Given the description of an element on the screen output the (x, y) to click on. 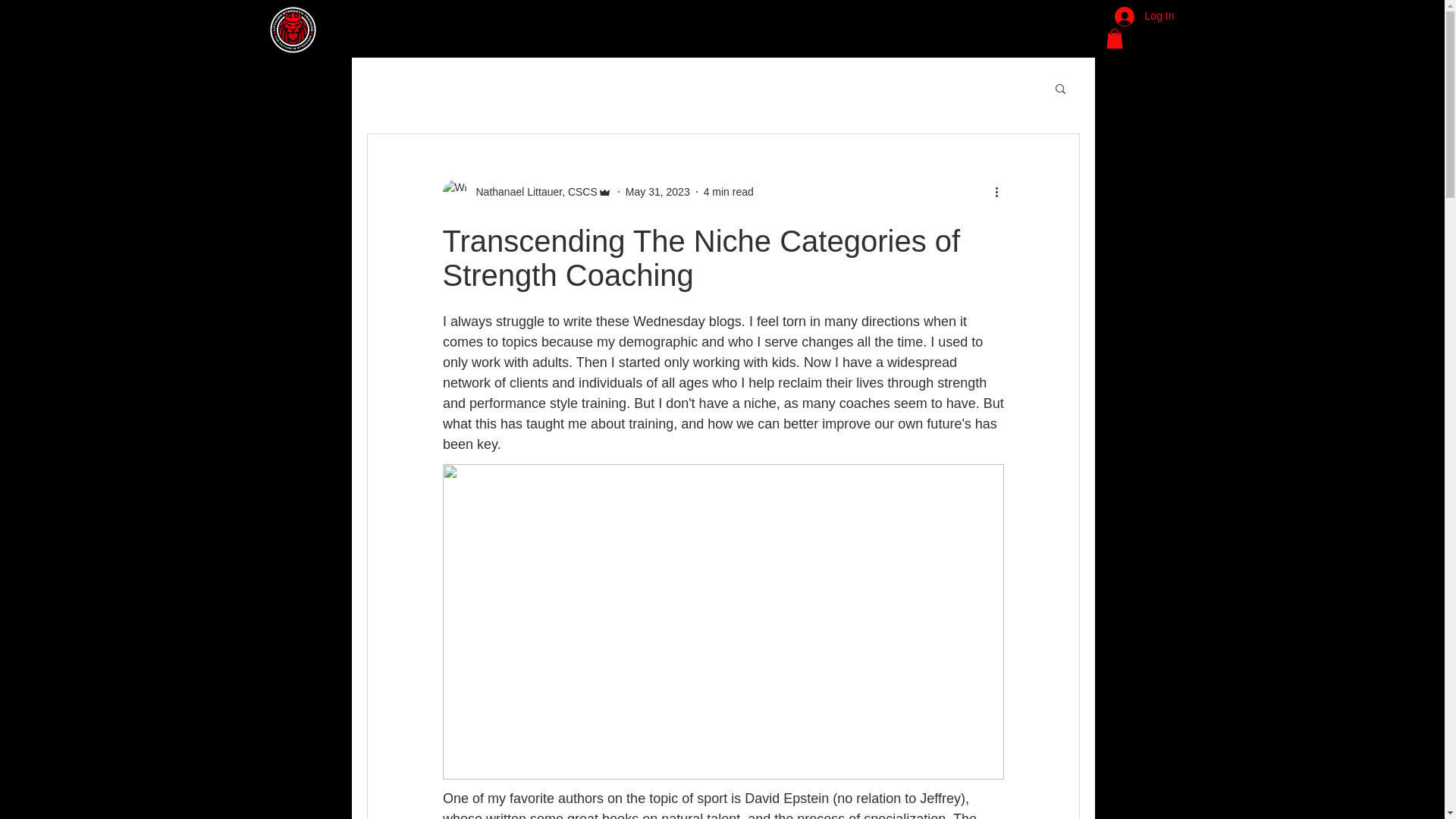
Nathanael Littauer, CSCS (526, 191)
Log In (1144, 16)
littauer-circle-badge.png (291, 29)
Nathanael Littauer, CSCS (531, 191)
May 31, 2023 (658, 191)
4 min read (728, 191)
